Given the description of an element on the screen output the (x, y) to click on. 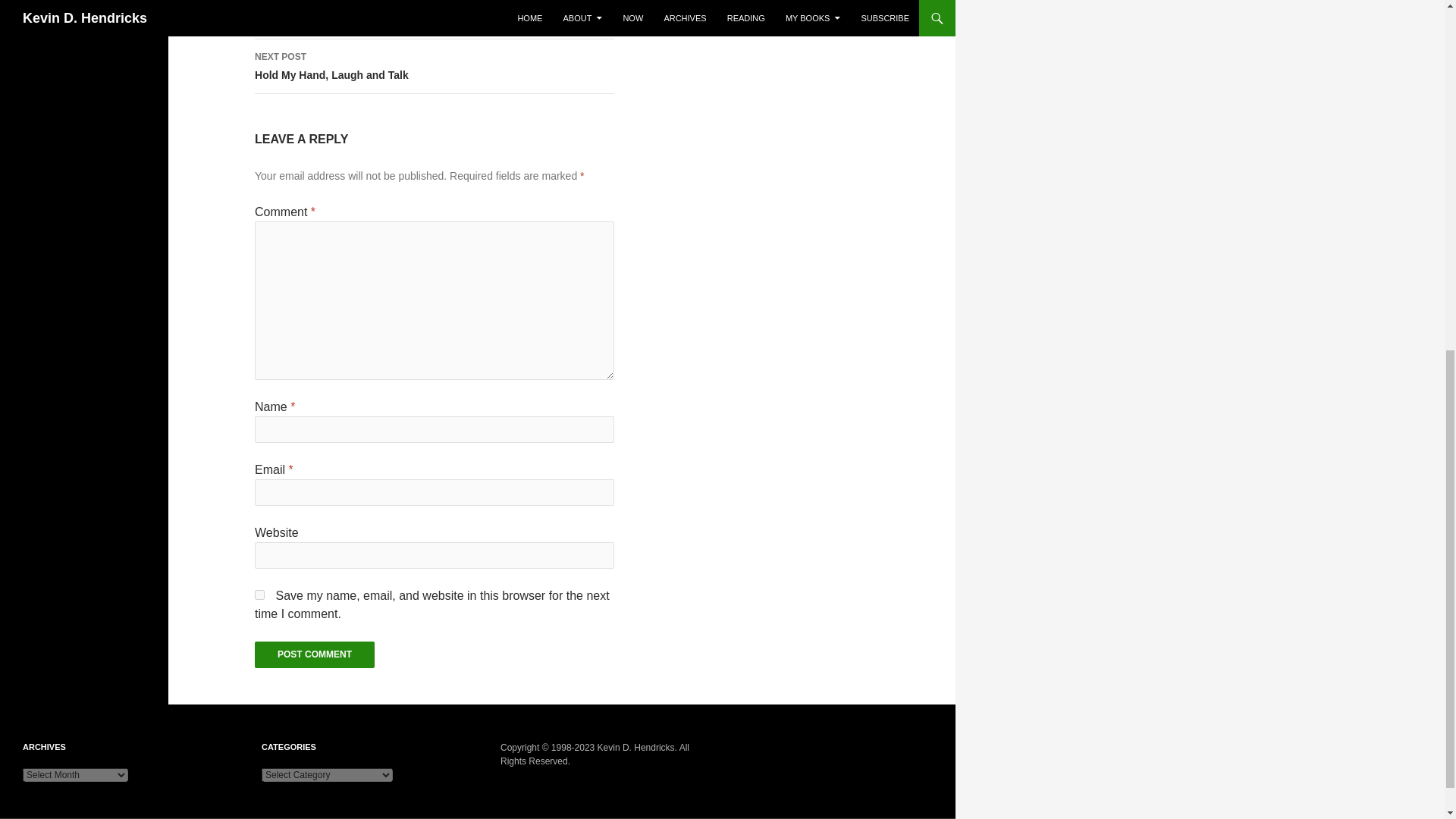
yes (259, 594)
Post Comment (434, 19)
Post Comment (434, 66)
